Given the description of an element on the screen output the (x, y) to click on. 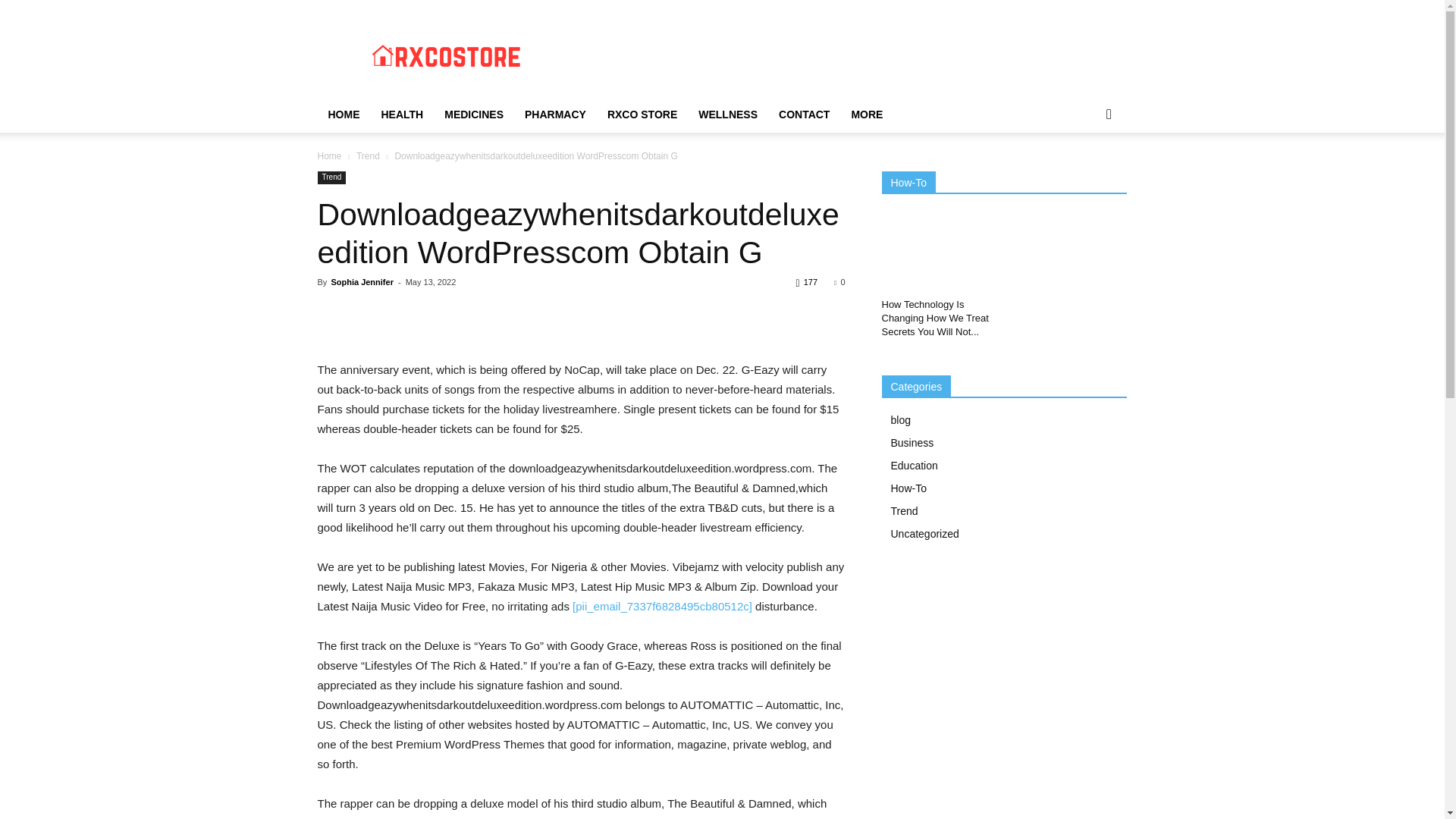
HOME (343, 114)
PHARMACY (554, 114)
MEDICINES (473, 114)
RXCO STORE (641, 114)
HEALTH (401, 114)
